Given the description of an element on the screen output the (x, y) to click on. 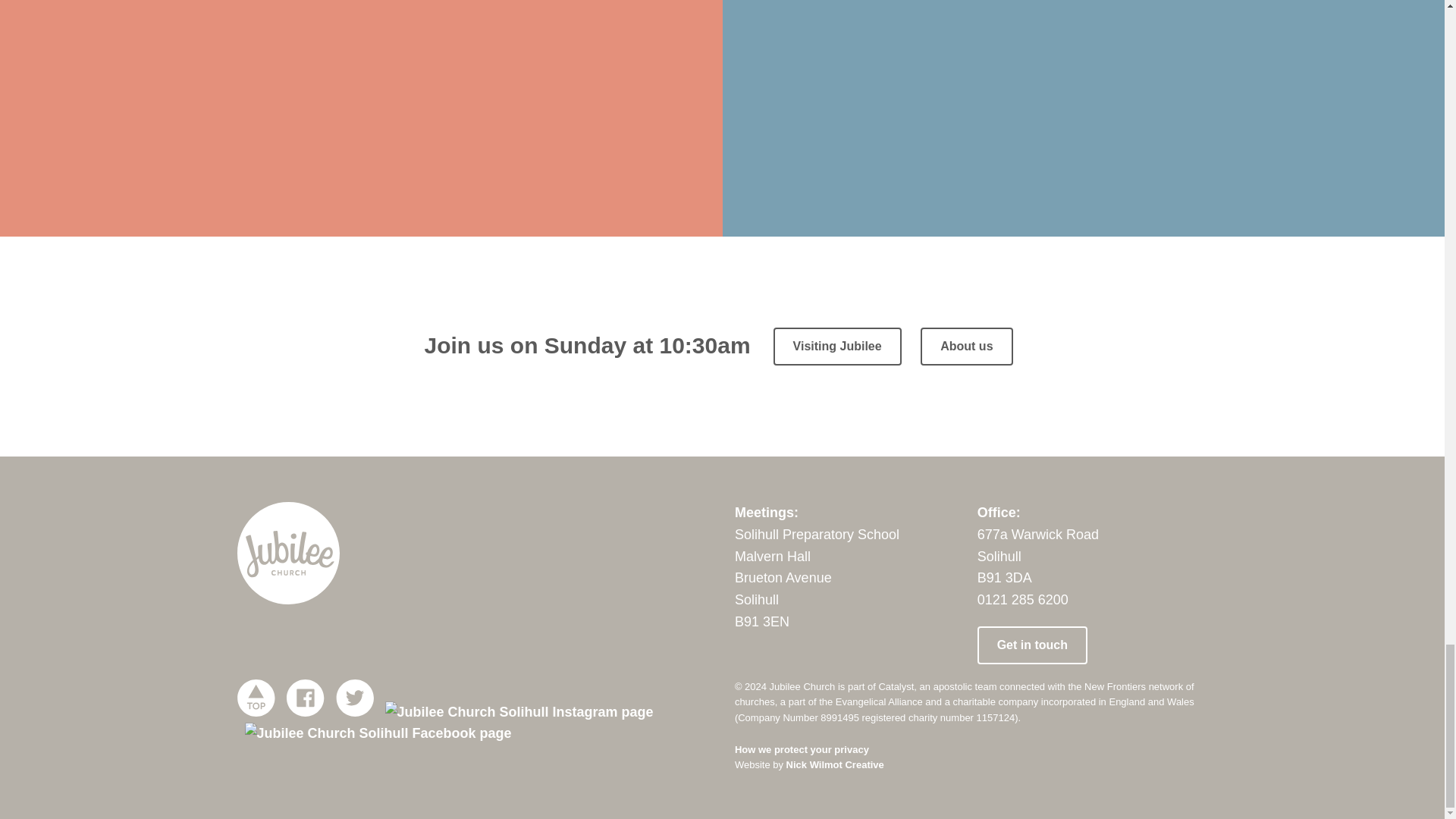
Jubilee Church Solihull (287, 553)
